Given the description of an element on the screen output the (x, y) to click on. 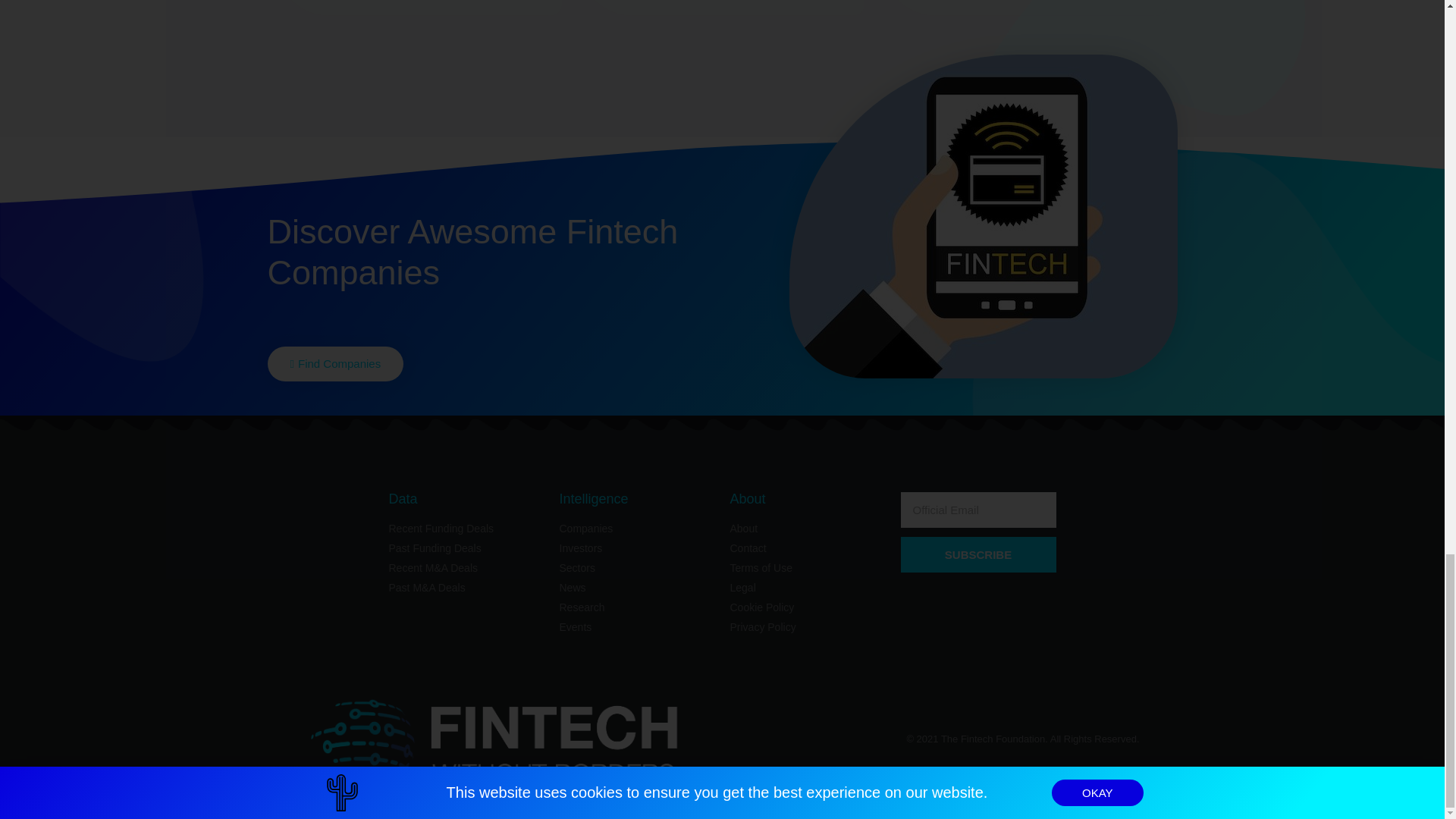
News (636, 587)
Cookie Policy (807, 607)
Companies (636, 528)
Terms of Use (807, 568)
Events (636, 627)
Sectors (636, 568)
Investors (636, 548)
Legal (807, 587)
Find Companies (334, 363)
About (807, 528)
